Given the description of an element on the screen output the (x, y) to click on. 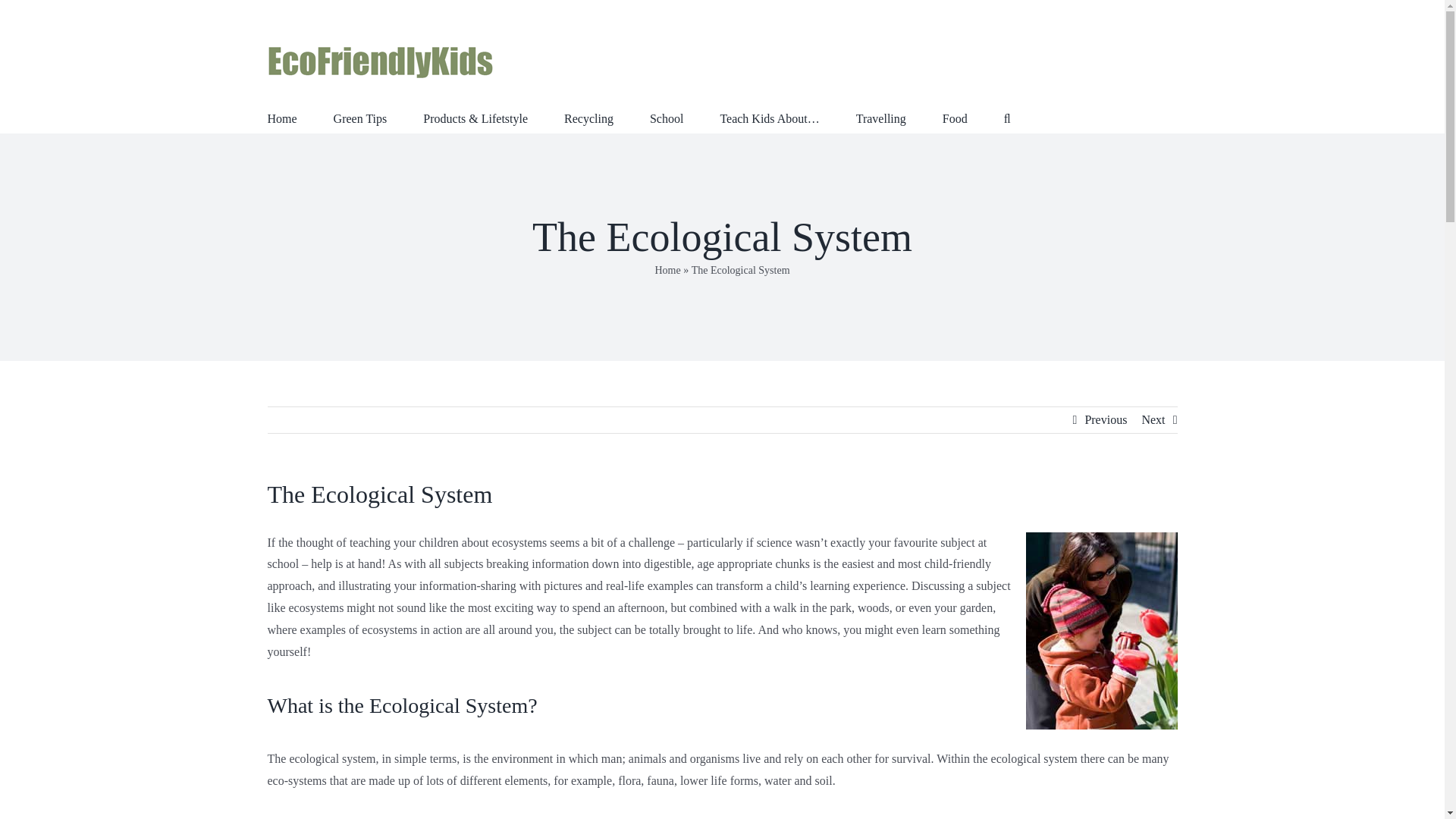
Previous (1105, 420)
Green Tips (360, 117)
Travelling (880, 117)
Home (281, 117)
Next (1152, 420)
Home (666, 270)
School (665, 117)
Recycling (588, 117)
